Given the description of an element on the screen output the (x, y) to click on. 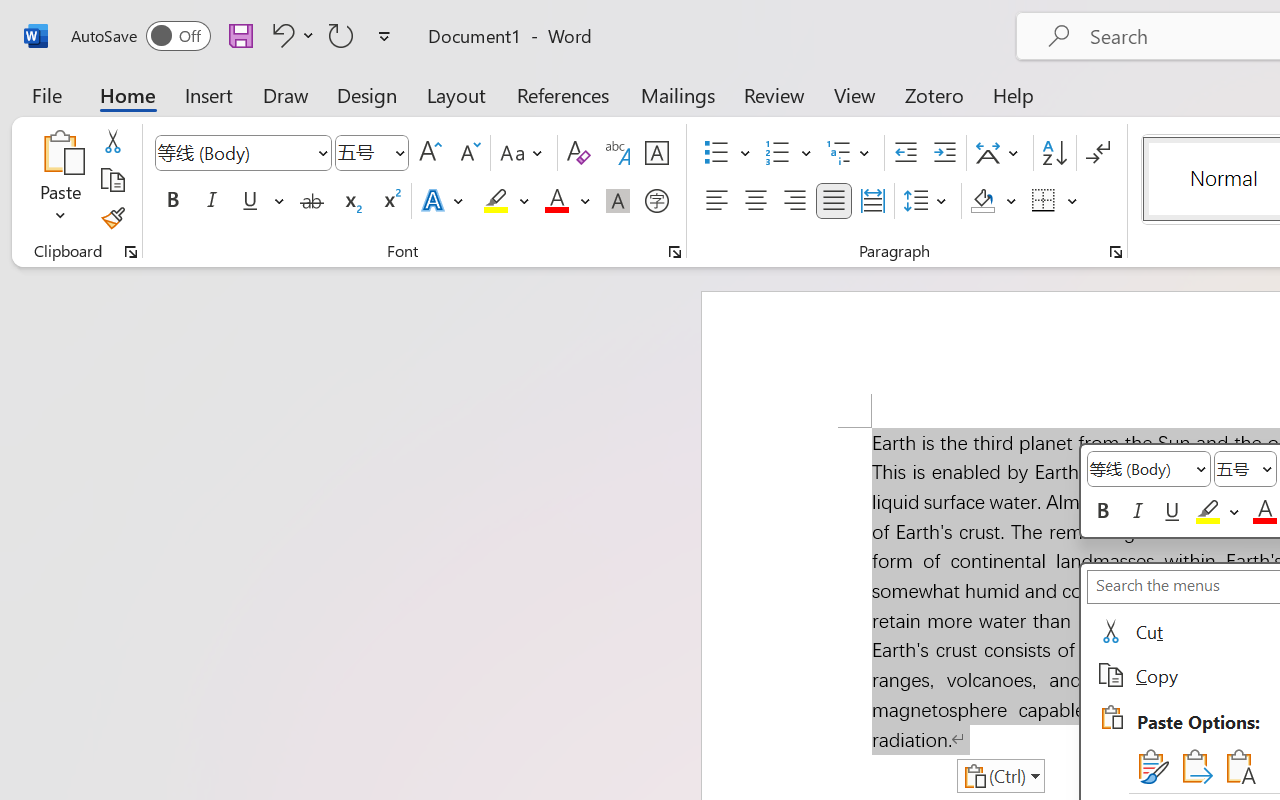
Merge Formatting (1194, 766)
Character Shading (618, 201)
Line and Paragraph Spacing (927, 201)
Format Painter (112, 218)
Office Clipboard... (131, 252)
Decrease Indent (906, 153)
Strikethrough (312, 201)
Shading (993, 201)
Phonetic Guide... (618, 153)
Bold (172, 201)
